Given the description of an element on the screen output the (x, y) to click on. 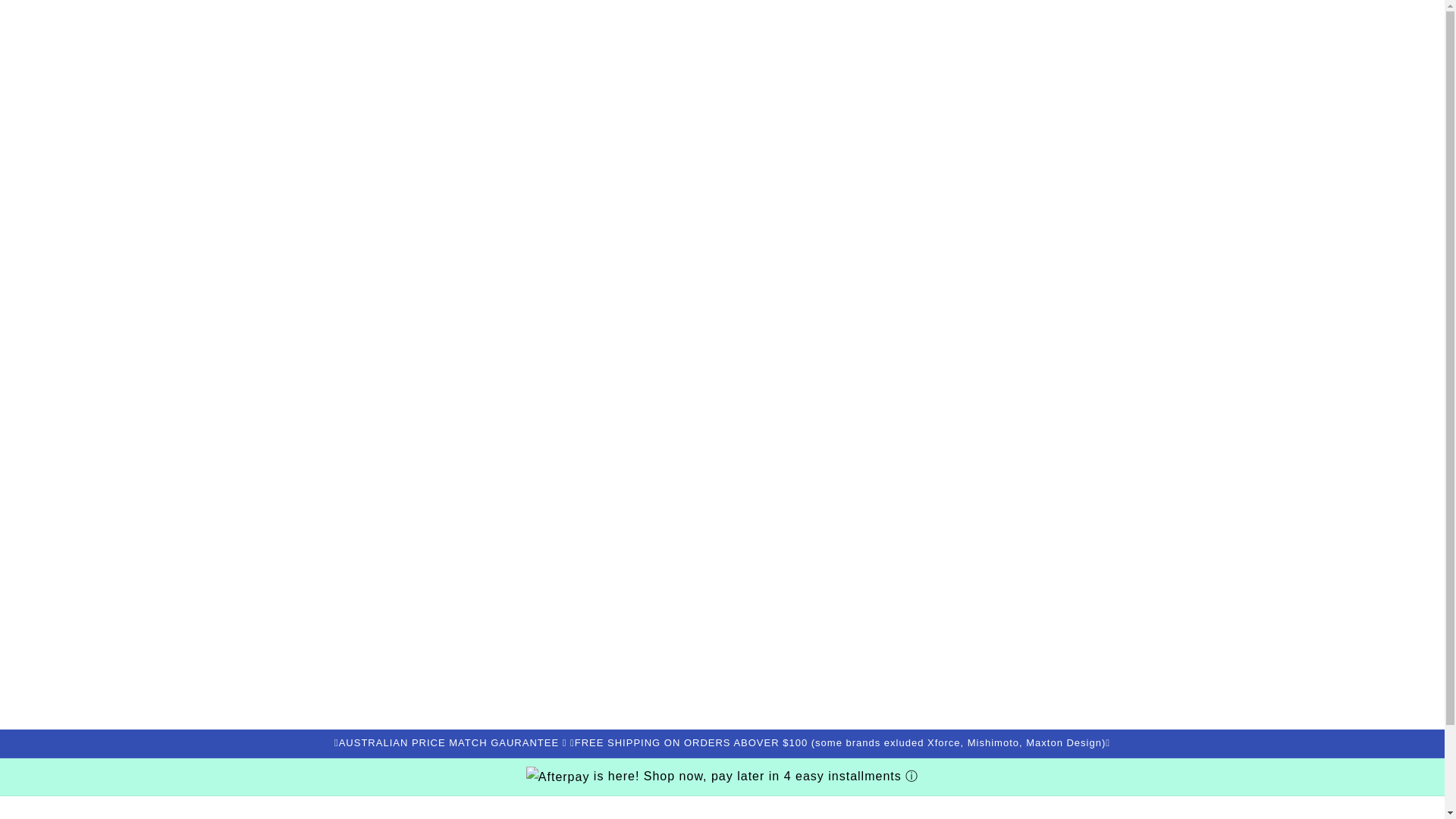
Skip to content (45, 16)
